Given the description of an element on the screen output the (x, y) to click on. 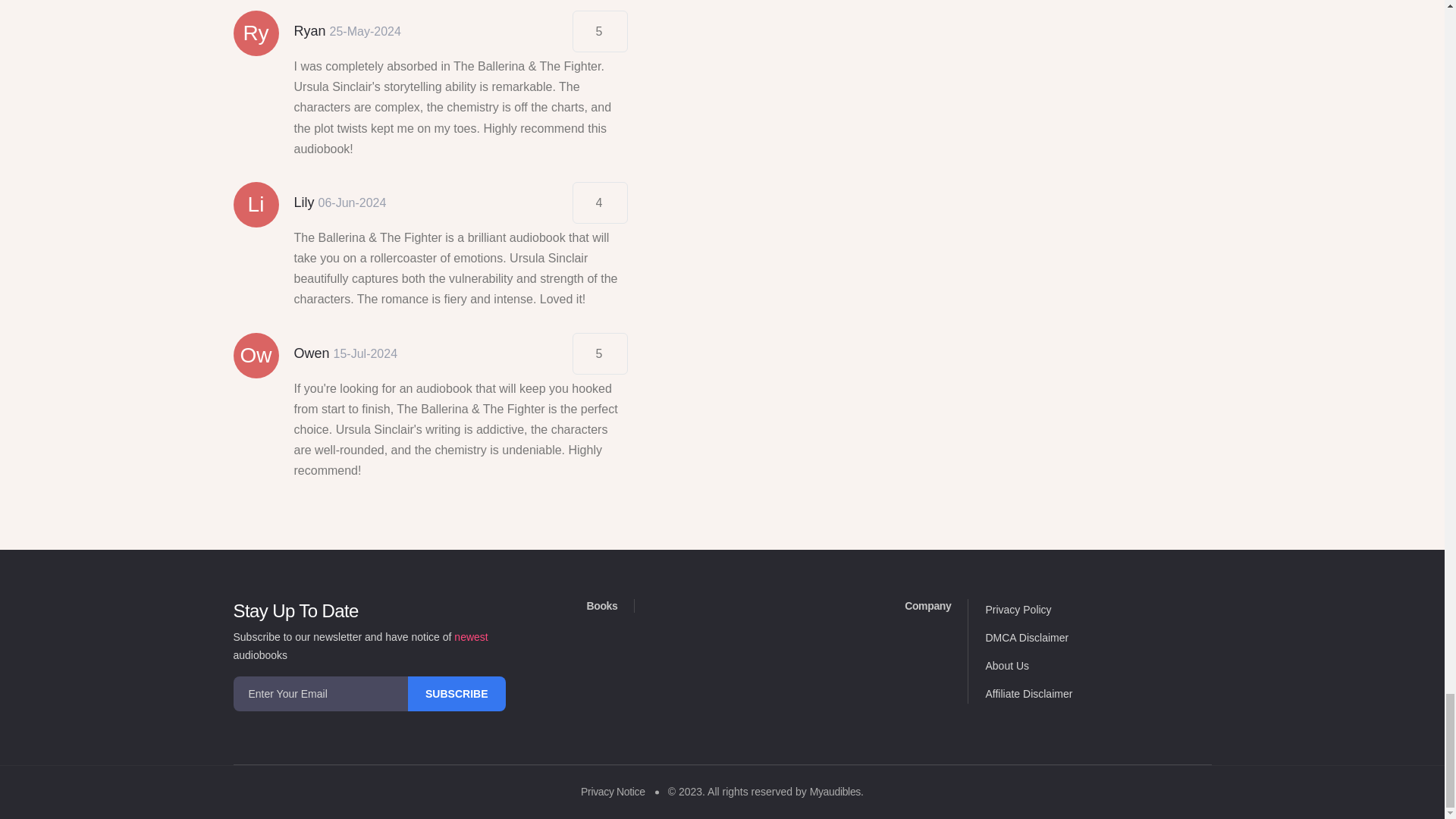
Affiliate Disclaimer (1028, 693)
DMCA Disclaimer (1026, 637)
SUBSCRIBE (456, 693)
Myaudibles (834, 791)
About Us (1007, 665)
Privacy Policy (1018, 609)
Privacy Notice (612, 791)
